Given the description of an element on the screen output the (x, y) to click on. 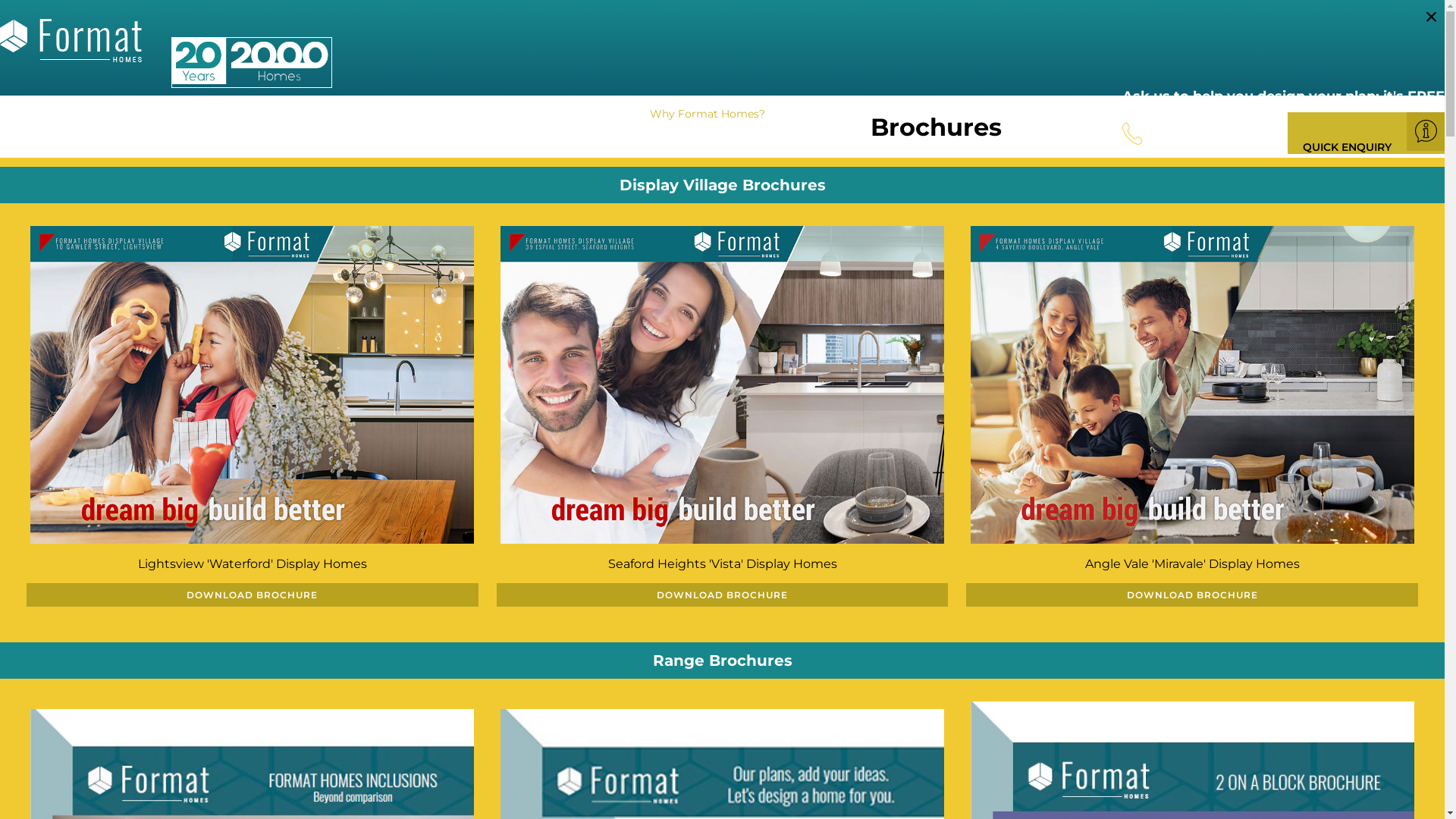
Why Format Homes? Element type: text (713, 113)
$50K Inclusions Element type: text (441, 113)
Dream Big Build Better Element type: text (308, 113)
DOWNLOAD BROCHURE Element type: text (252, 594)
Knock Down, Rebuild Element type: text (568, 113)
Display Villages Element type: text (172, 113)
Home Designs Element type: text (55, 113)
(08) 8423 3277 Element type: text (1187, 137)
DOWNLOAD BROCHURE Element type: text (722, 594)
DOWNLOAD BROCHURE Element type: text (1192, 594)
QUICK ENQUIRY Element type: text (1365, 132)
Contact Us Element type: text (830, 113)
